Given the description of an element on the screen output the (x, y) to click on. 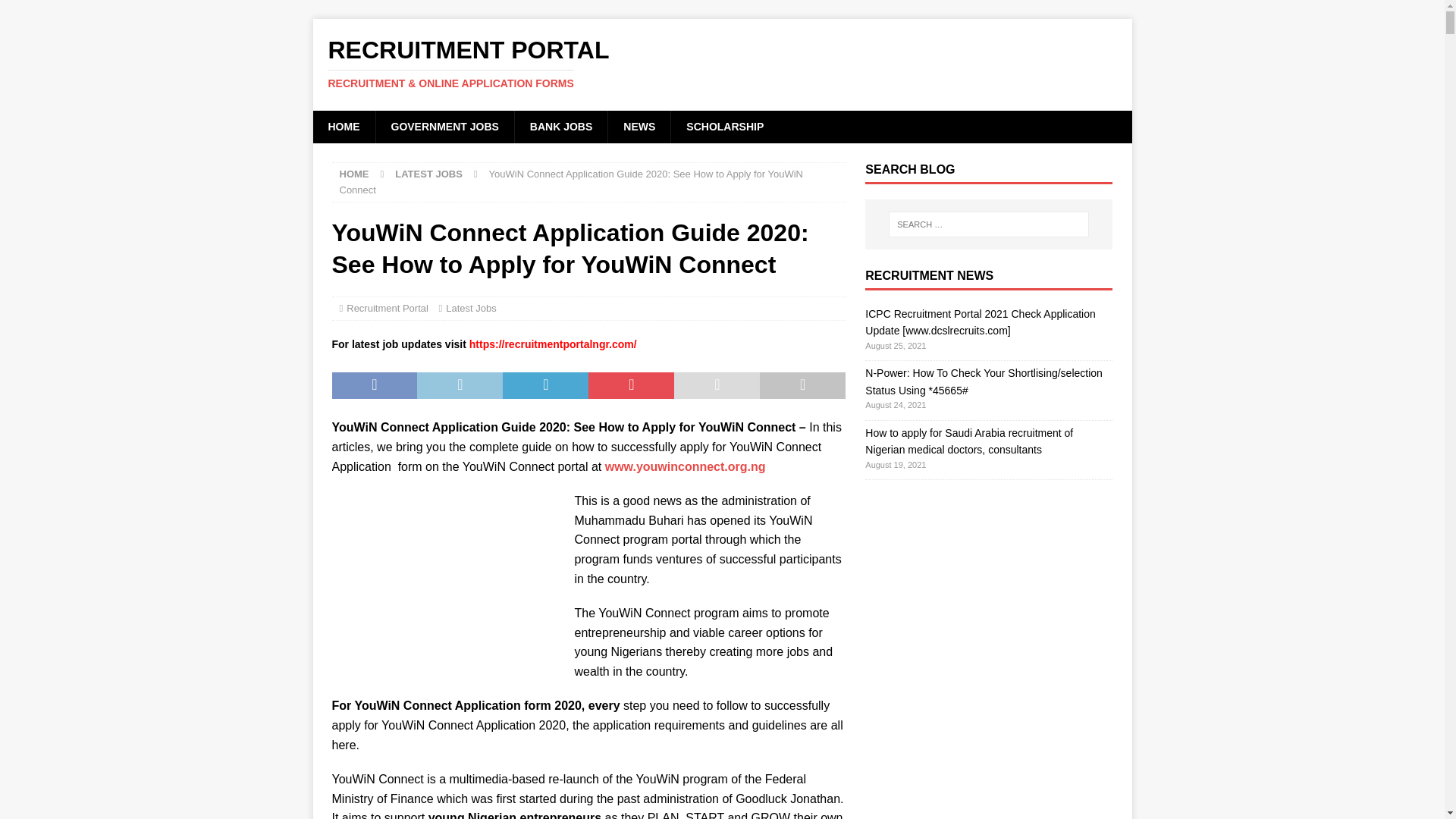
Latest Jobs (470, 307)
LATEST JOBS (428, 173)
GOVERNMENT JOBS (443, 126)
Recruitment Portal (721, 63)
Advertisement (445, 585)
Recruitment Portal (387, 307)
HOME (354, 173)
www.youwinconnect.org.ng (685, 466)
HOME (343, 126)
SCHOLARSHIP (723, 126)
